Given the description of an element on the screen output the (x, y) to click on. 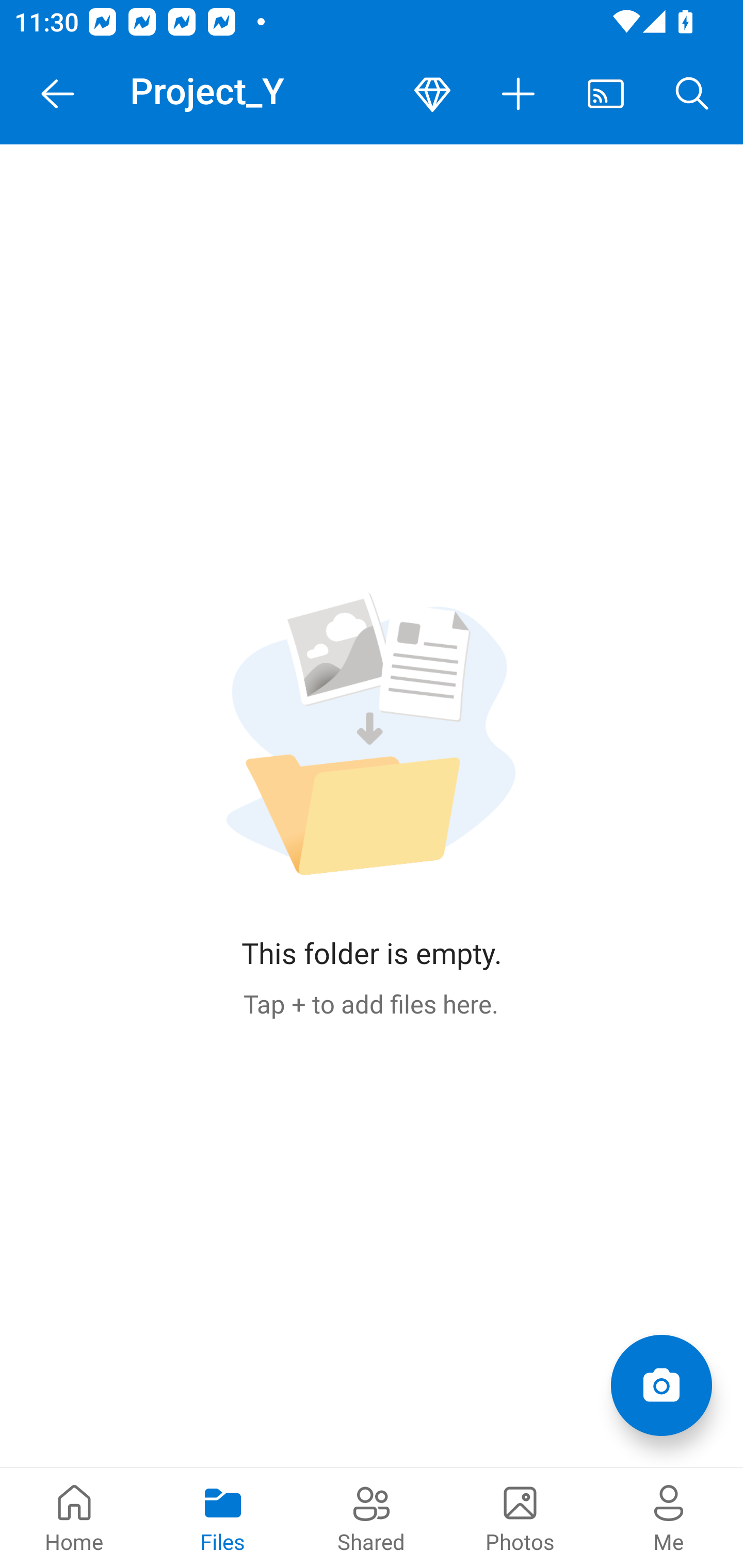
Navigate Up (57, 93)
Cast. Disconnected (605, 93)
Premium button (432, 93)
More actions button (518, 93)
Search button (692, 93)
Add items Scan (660, 1385)
Home pivot Home (74, 1517)
Shared pivot Shared (371, 1517)
Photos pivot Photos (519, 1517)
Me pivot Me (668, 1517)
